Given the description of an element on the screen output the (x, y) to click on. 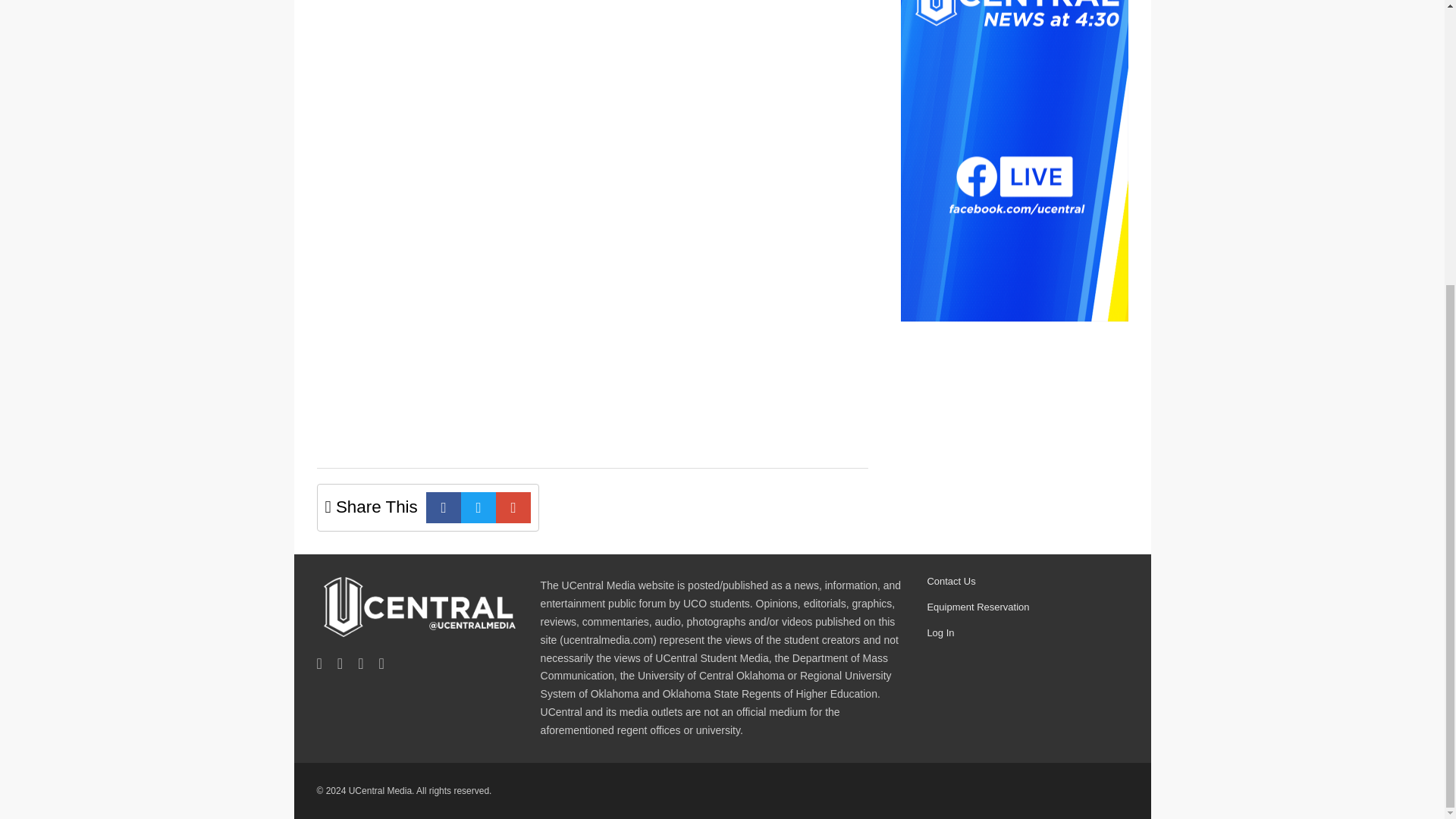
Twitter (478, 507)
Facebook (443, 507)
E-mail (513, 507)
